Given the description of an element on the screen output the (x, y) to click on. 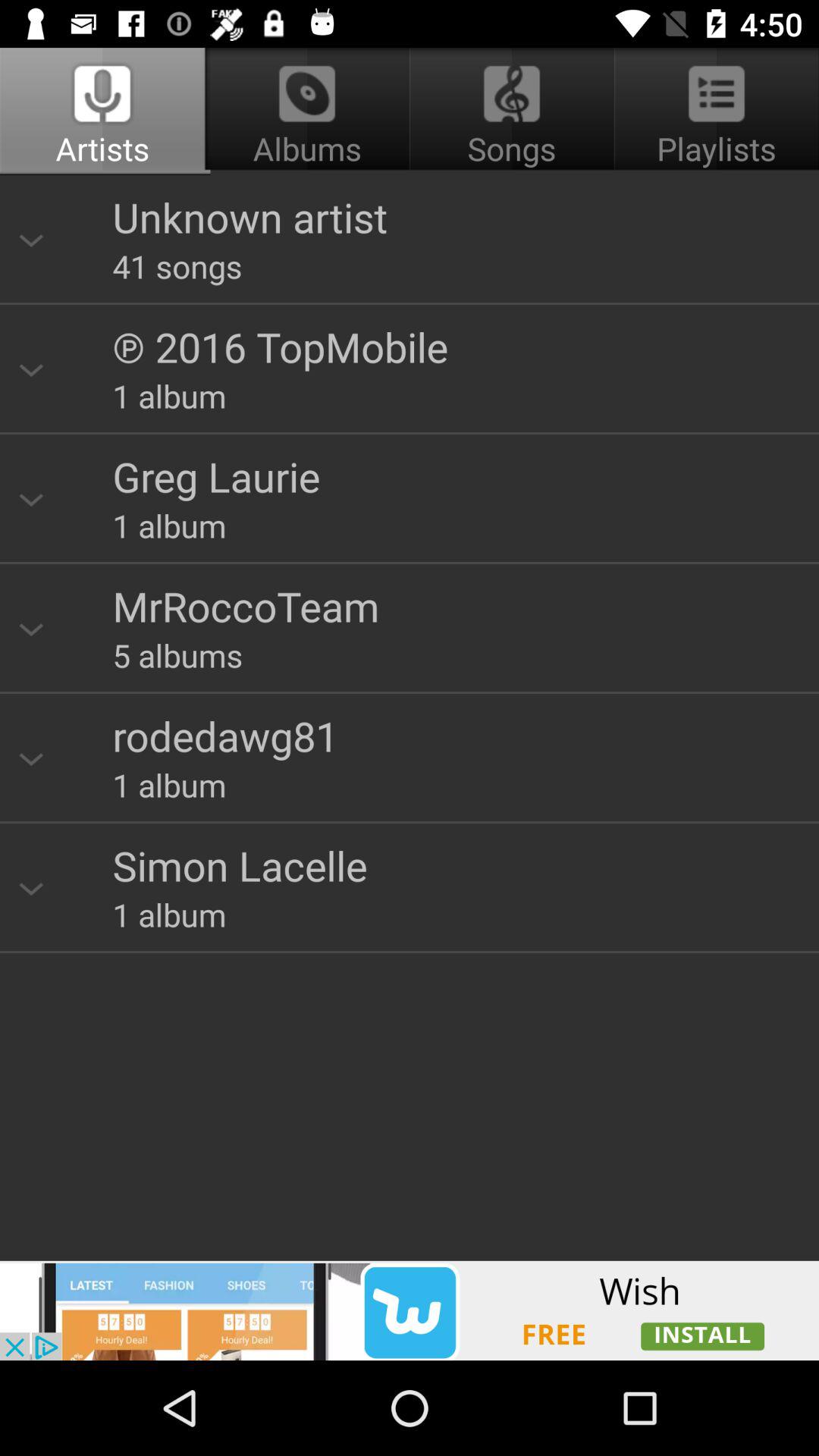
external advertisement (409, 1310)
